Given the description of an element on the screen output the (x, y) to click on. 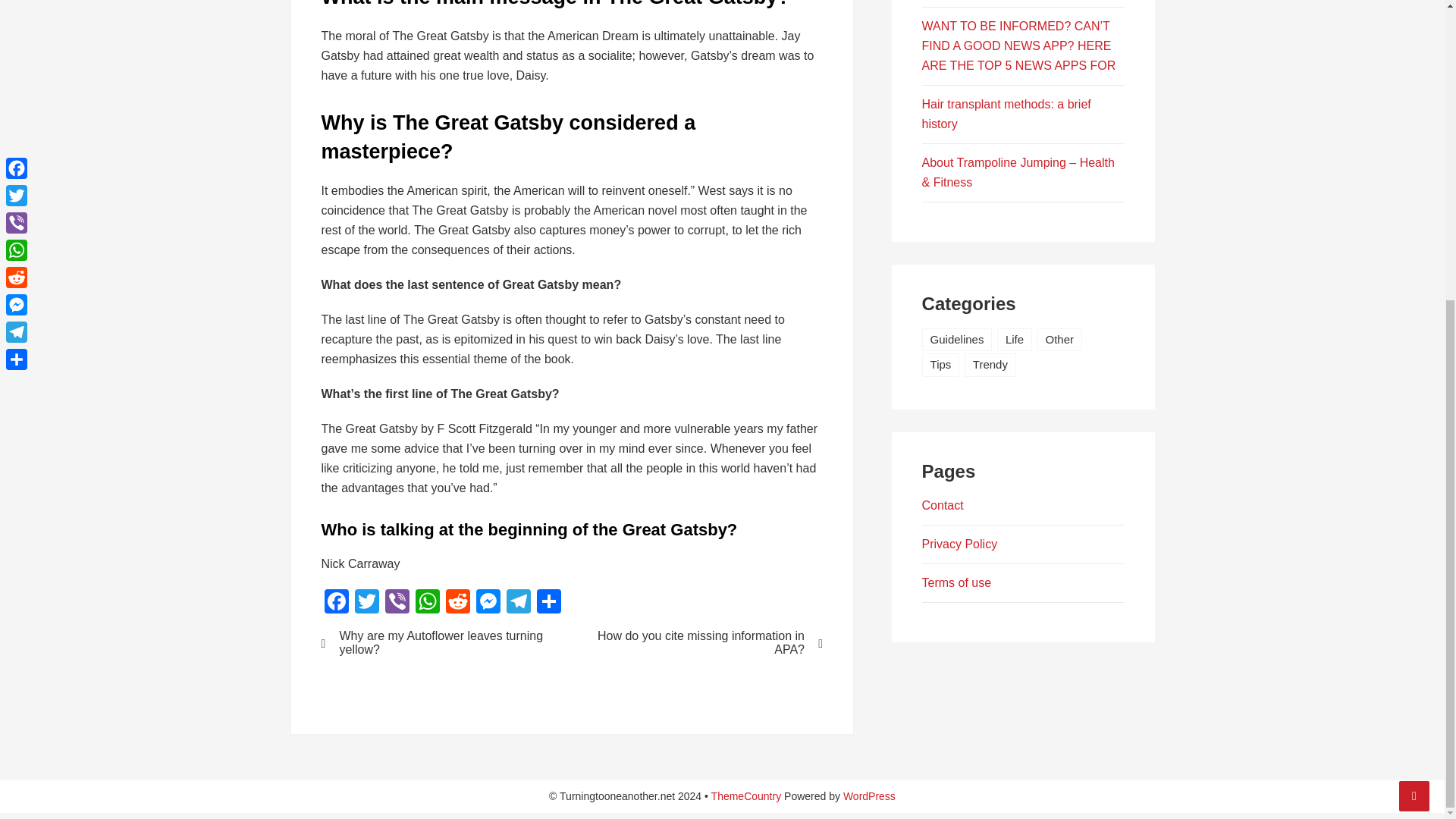
Hair transplant methods: a brief history (1005, 113)
WordPress (869, 796)
BasePress - The best free WordPress blog theme for WordPress (746, 796)
Why are my Autoflower leaves turning yellow? (436, 642)
Telegram (518, 602)
Share (549, 602)
Terms of use (956, 582)
Trendy (989, 363)
How do you cite missing information in APA? (707, 642)
Twitter (366, 602)
Messenger (488, 602)
WhatsApp (427, 602)
Twitter (366, 602)
Viber (396, 602)
Messenger (488, 602)
